Given the description of an element on the screen output the (x, y) to click on. 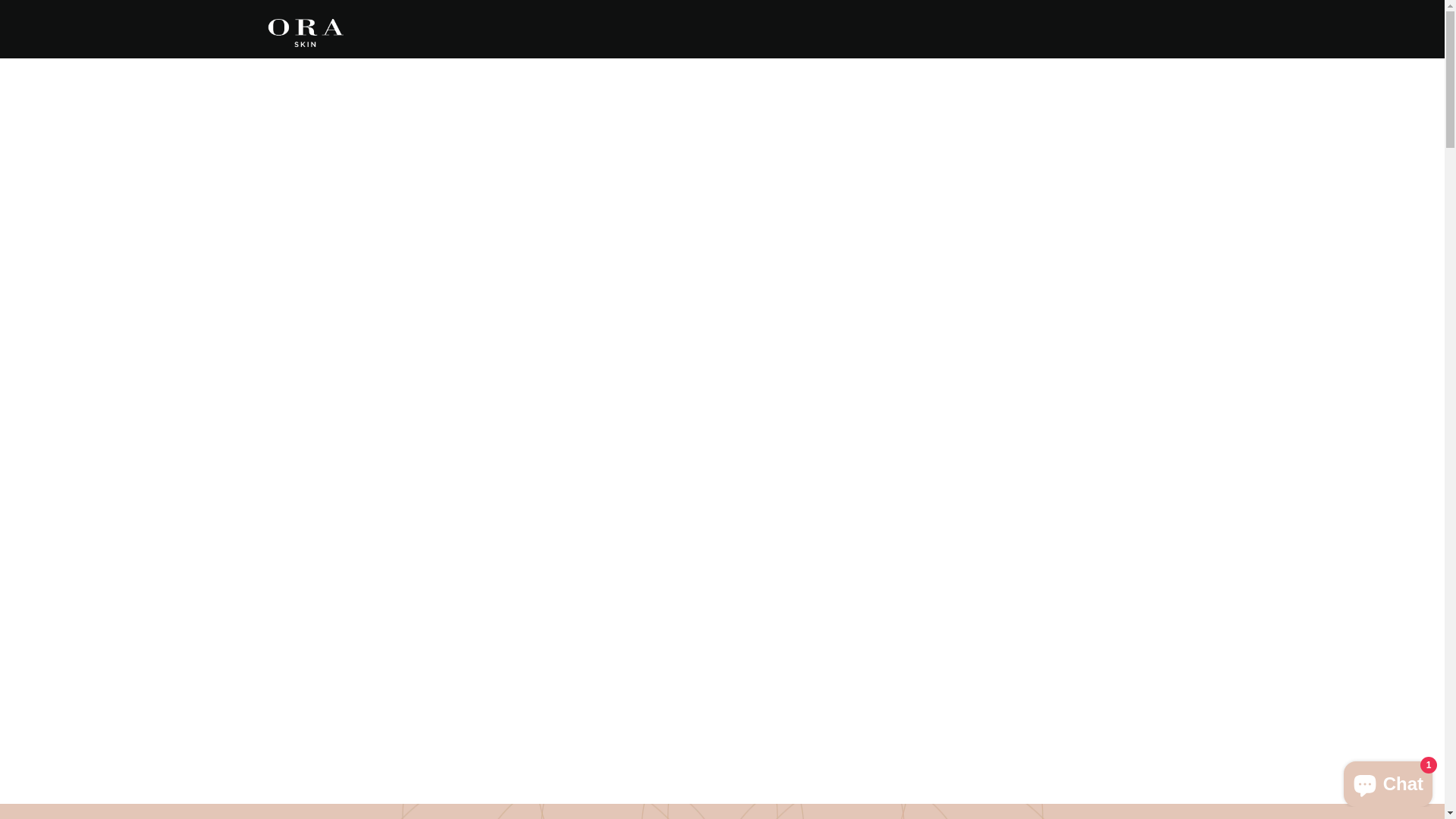
Shopify online store chat Element type: hover (1388, 780)
